Given the description of an element on the screen output the (x, y) to click on. 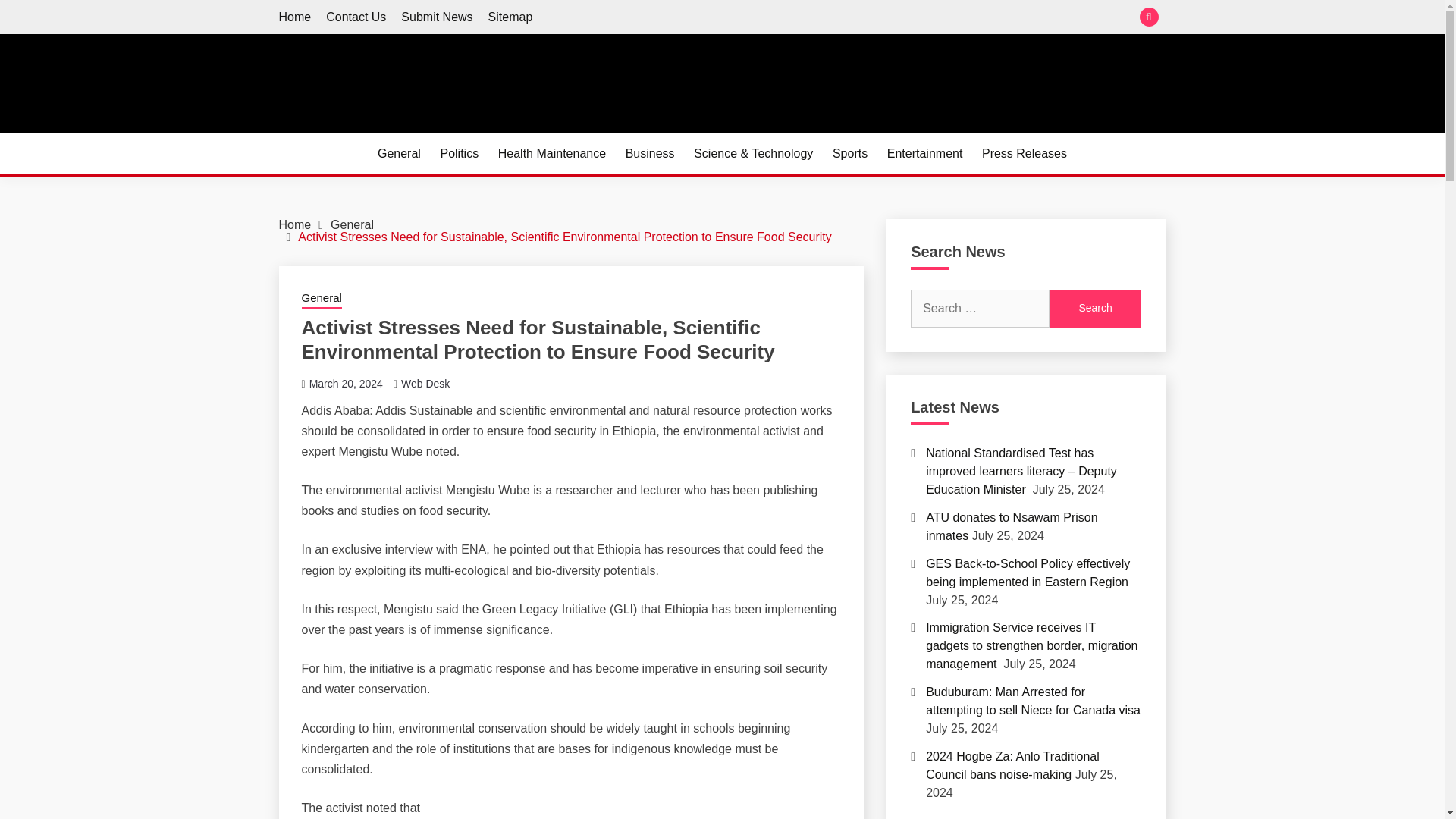
General (398, 153)
Politics (459, 153)
General (321, 299)
Search (832, 18)
Web Desk (425, 383)
Home (295, 16)
SOMALIA NEWS GAZETTE (457, 130)
Search (1095, 308)
Sports (849, 153)
Health Maintenance (551, 153)
Press Releases (1024, 153)
Submit News (436, 16)
Entertainment (924, 153)
March 20, 2024 (345, 383)
